Given the description of an element on the screen output the (x, y) to click on. 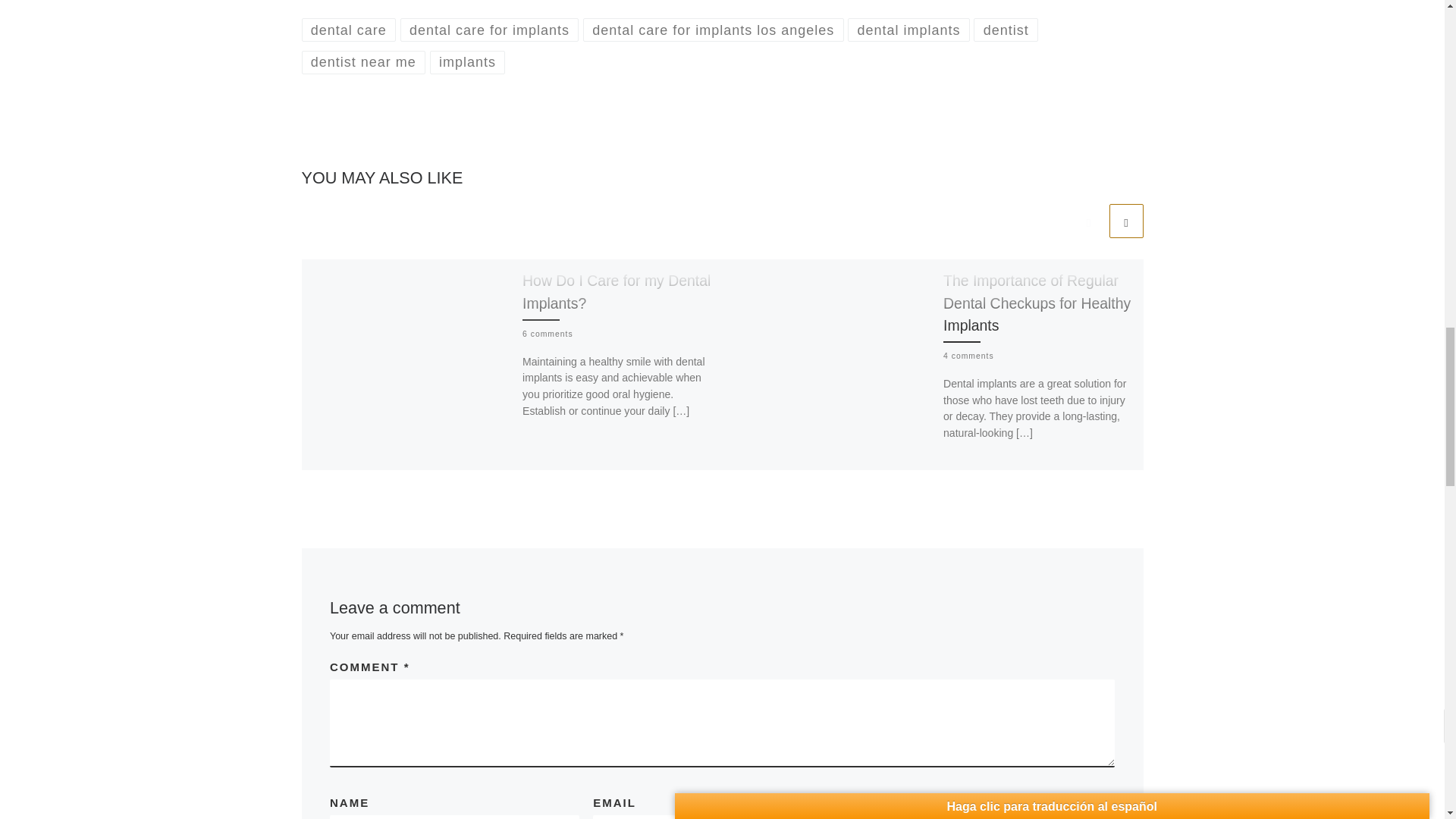
View all posts in dental care (348, 29)
View all posts in dental care for implants los angeles (713, 29)
View all posts in dentist (1006, 29)
View all posts in dental implants (908, 29)
View all posts in dental care for implants (489, 29)
View all posts in dentist near me (363, 62)
